Given the description of an element on the screen output the (x, y) to click on. 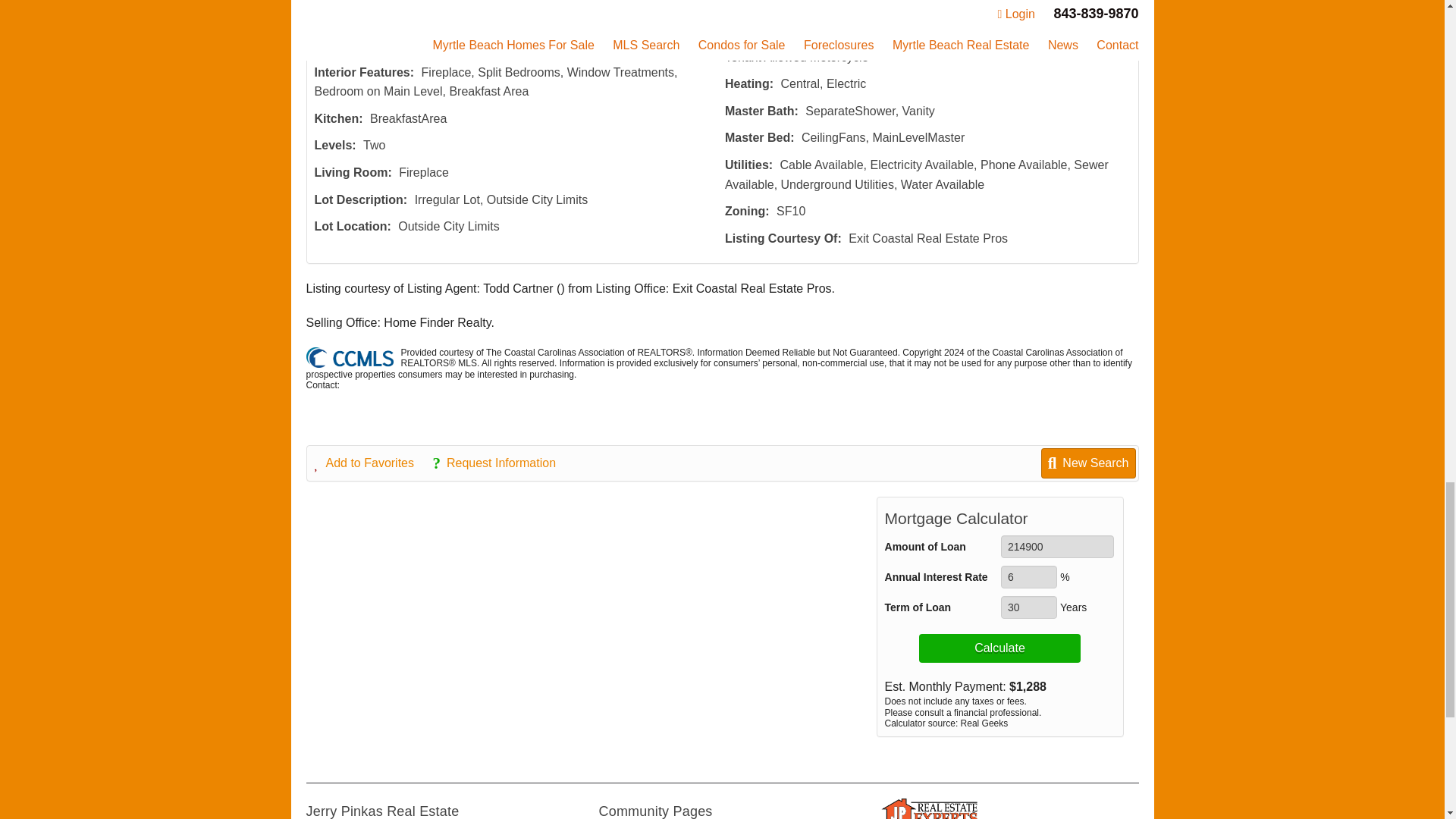
6 (1029, 576)
214900 (1057, 546)
30 (1029, 607)
